Given the description of an element on the screen output the (x, y) to click on. 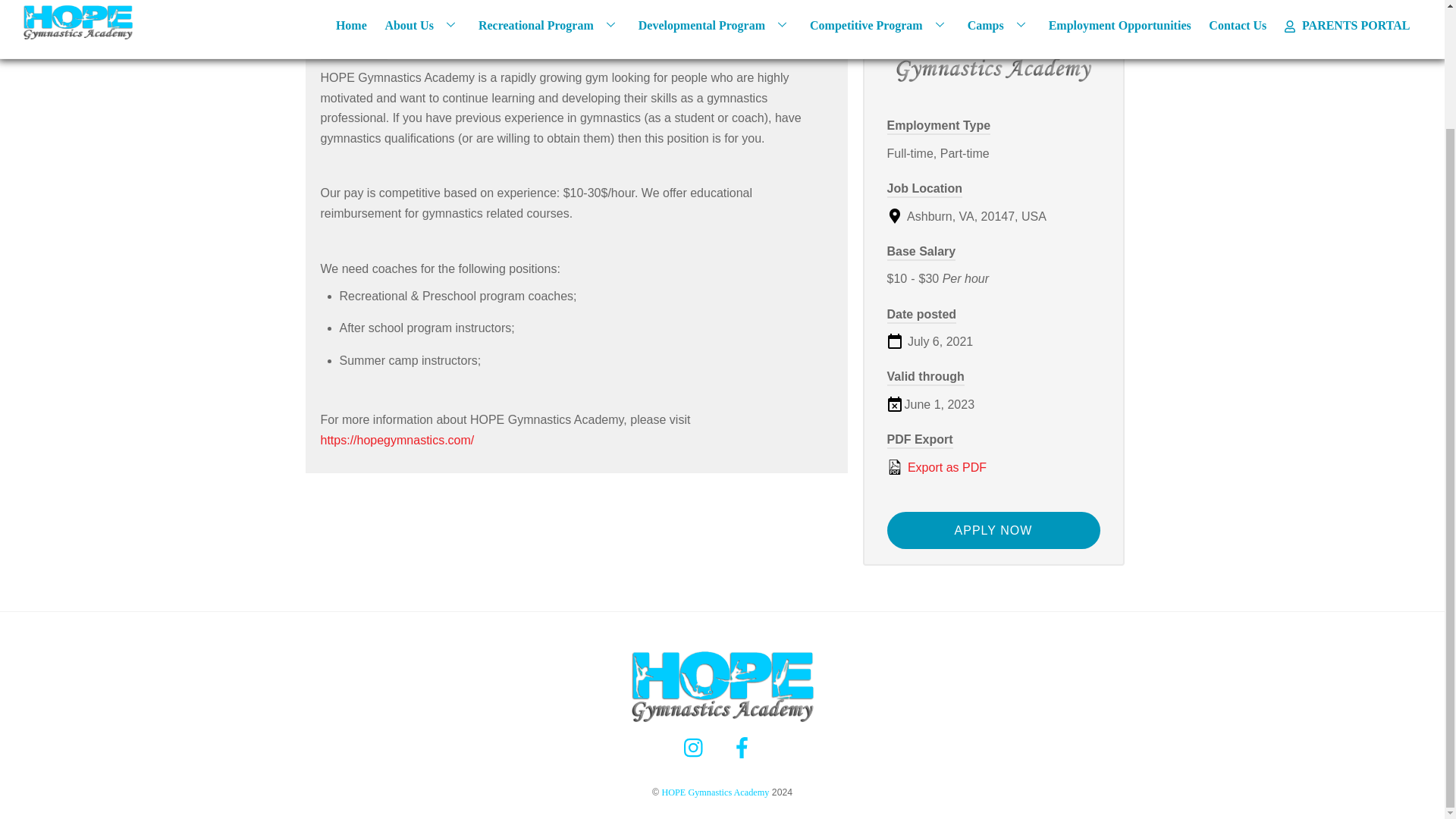
Export as PDF (993, 467)
HOPE Gymnastics Academy (721, 719)
logo-final (721, 686)
Hope Gymnastics (993, 44)
APPLY NOW (993, 529)
